Given the description of an element on the screen output the (x, y) to click on. 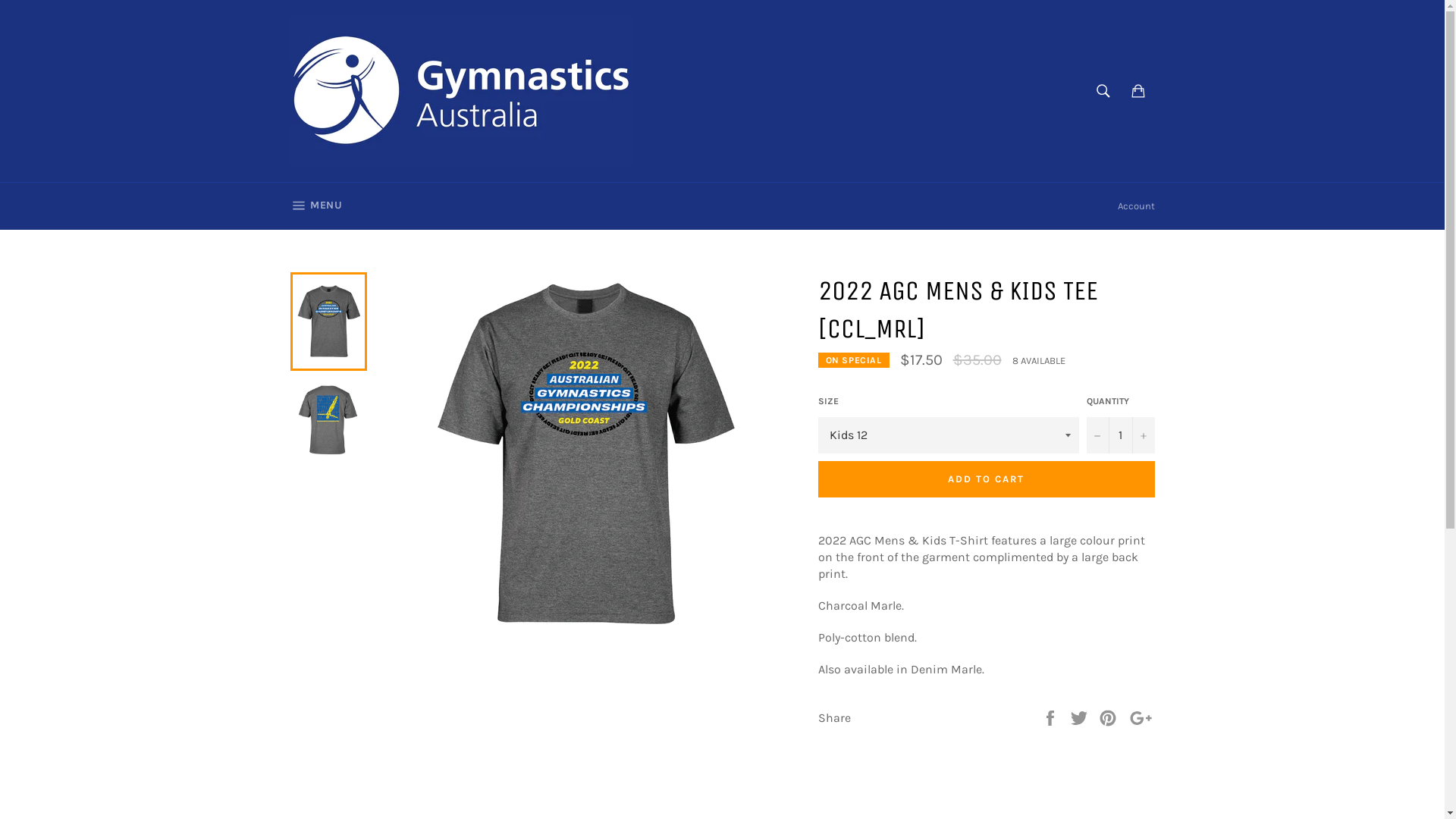
Share Element type: text (1051, 716)
MENU
SITE NAVIGATION Element type: text (315, 205)
Tweet Element type: text (1080, 716)
ADD TO CART Element type: text (985, 479)
Search Element type: text (1103, 90)
+ Element type: text (1142, 435)
Pin it Element type: text (1109, 716)
Cart Element type: text (1138, 90)
Account Element type: text (1136, 206)
+1 Element type: text (1140, 716)
